Given the description of an element on the screen output the (x, y) to click on. 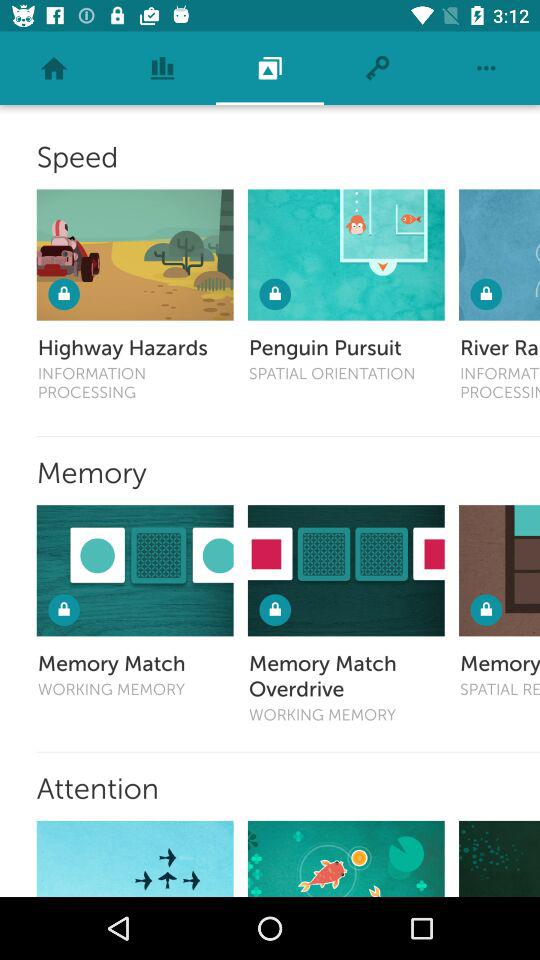
play memory match overdrive (345, 570)
